Given the description of an element on the screen output the (x, y) to click on. 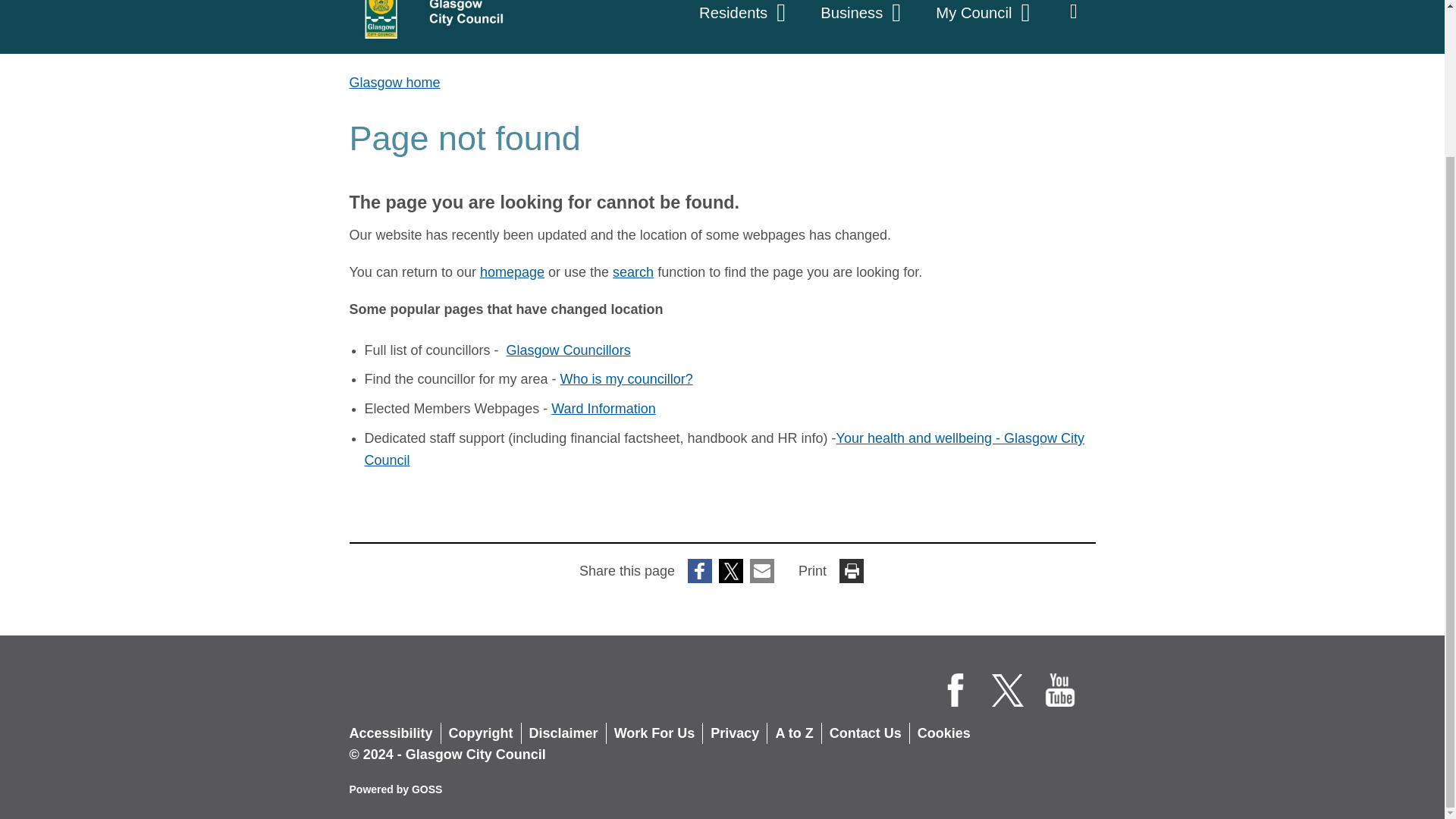
Facebook (955, 689)
opens in a new browser window (568, 350)
YouTube (1060, 689)
opens in a new browser window (626, 378)
Residents (744, 20)
Twitter (1008, 690)
